Given the description of an element on the screen output the (x, y) to click on. 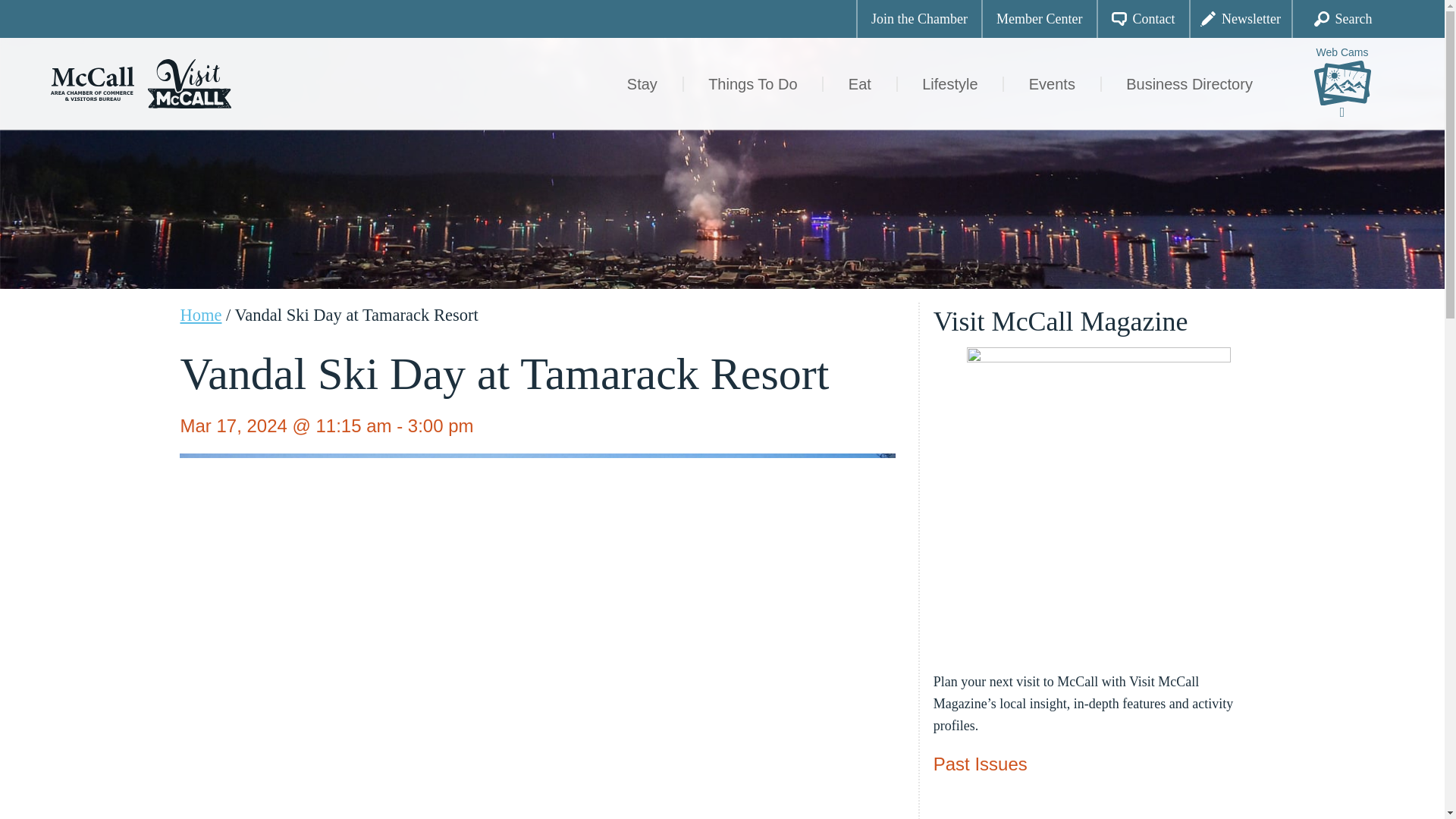
Join the Chamber (918, 18)
Contact (1142, 18)
Newsletter (1240, 18)
Join the Chamber (919, 18)
Things To Do (753, 83)
Member Center (1038, 18)
McCall Chamber (91, 82)
Lifestyle (950, 83)
Search (1342, 18)
